Given the description of an element on the screen output the (x, y) to click on. 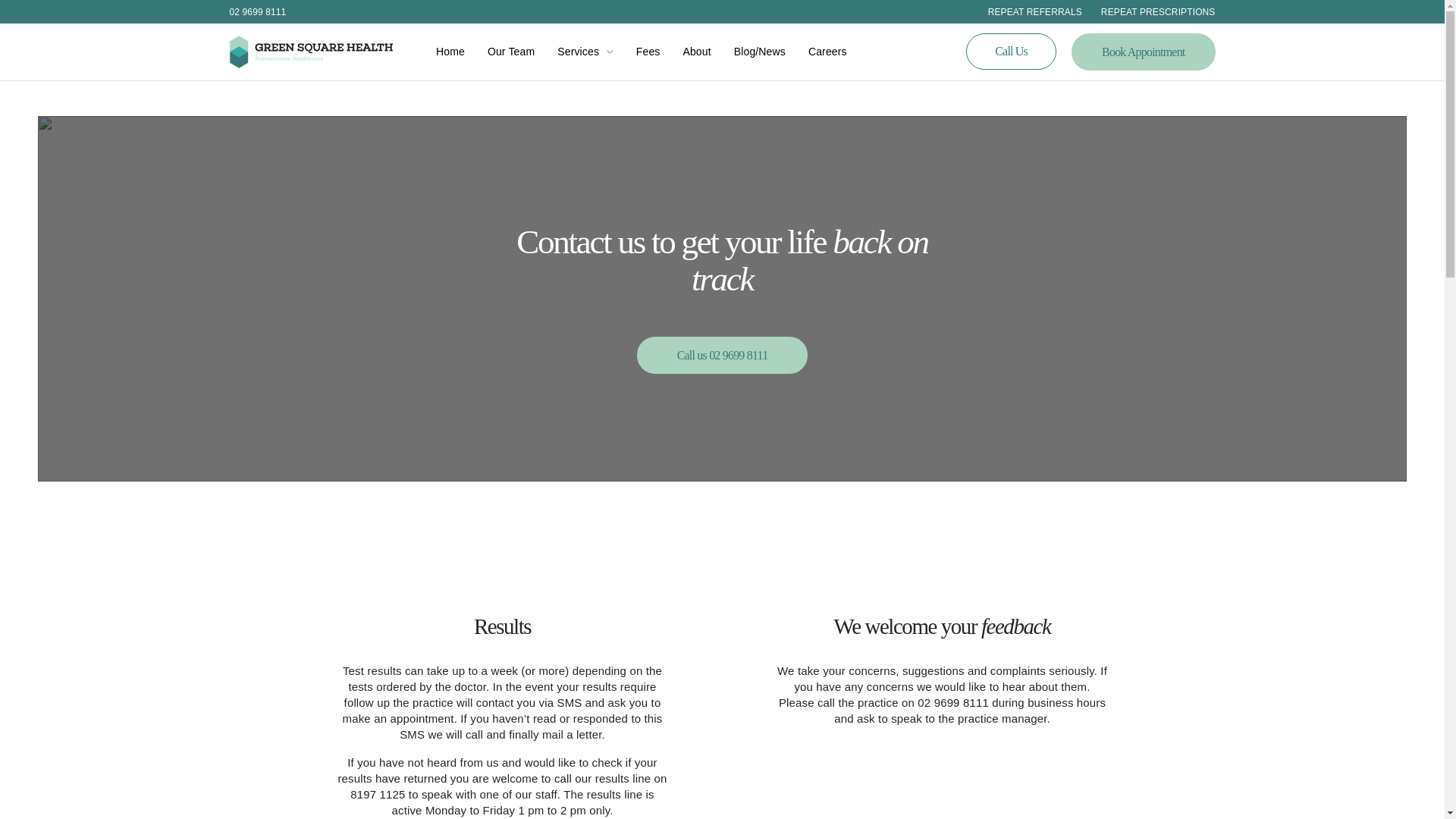
Services (577, 51)
REPEAT REFERRALS (1025, 11)
REPEAT PRESCRIPTIONS (1148, 11)
Home (449, 51)
Our Team (510, 51)
02 9699 8111 (256, 11)
